Given the description of an element on the screen output the (x, y) to click on. 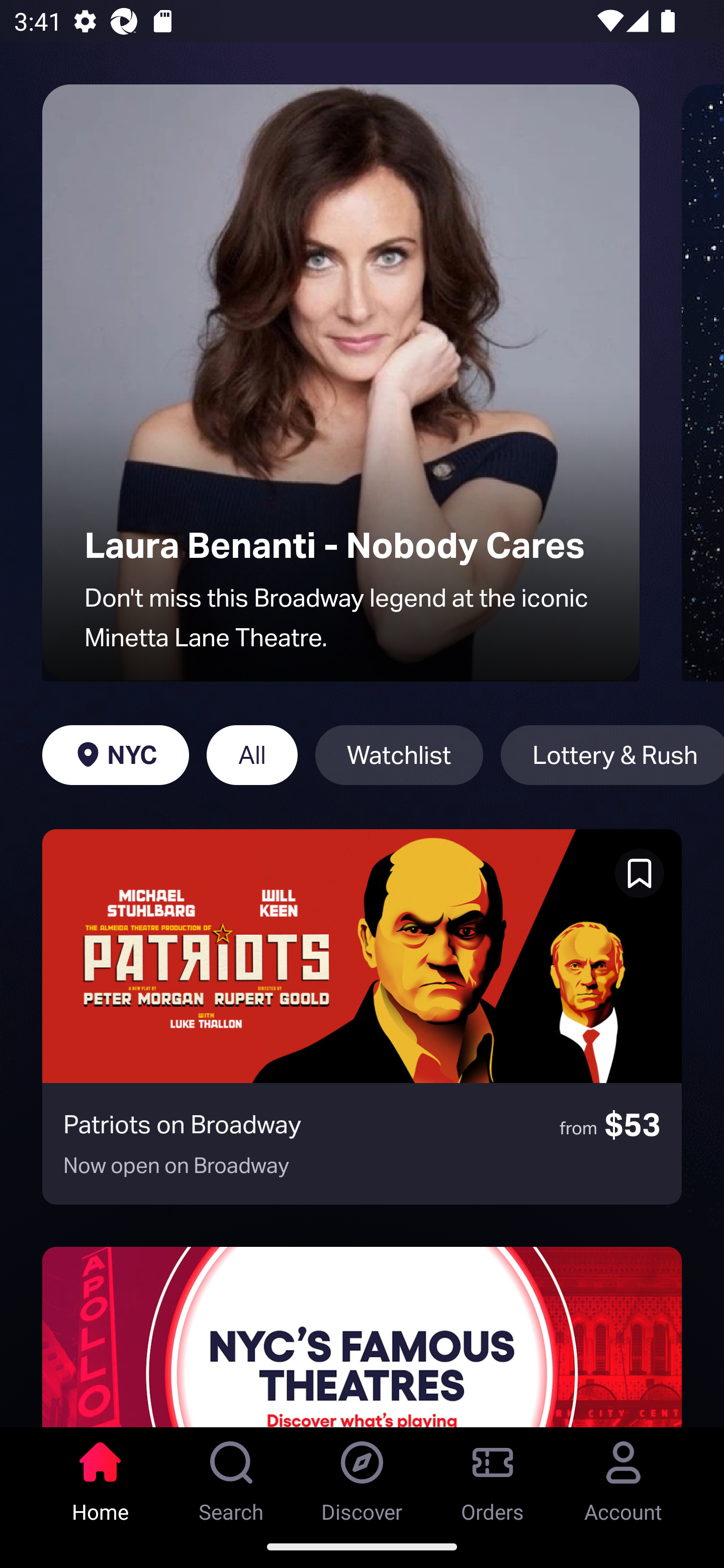
NYC (114, 754)
All (251, 754)
Watchlist (398, 754)
Lottery & Rush (612, 754)
Patriots on Broadway from $53 Now open on Broadway (361, 1016)
Search (230, 1475)
Discover (361, 1475)
Orders (492, 1475)
Account (623, 1475)
